Given the description of an element on the screen output the (x, y) to click on. 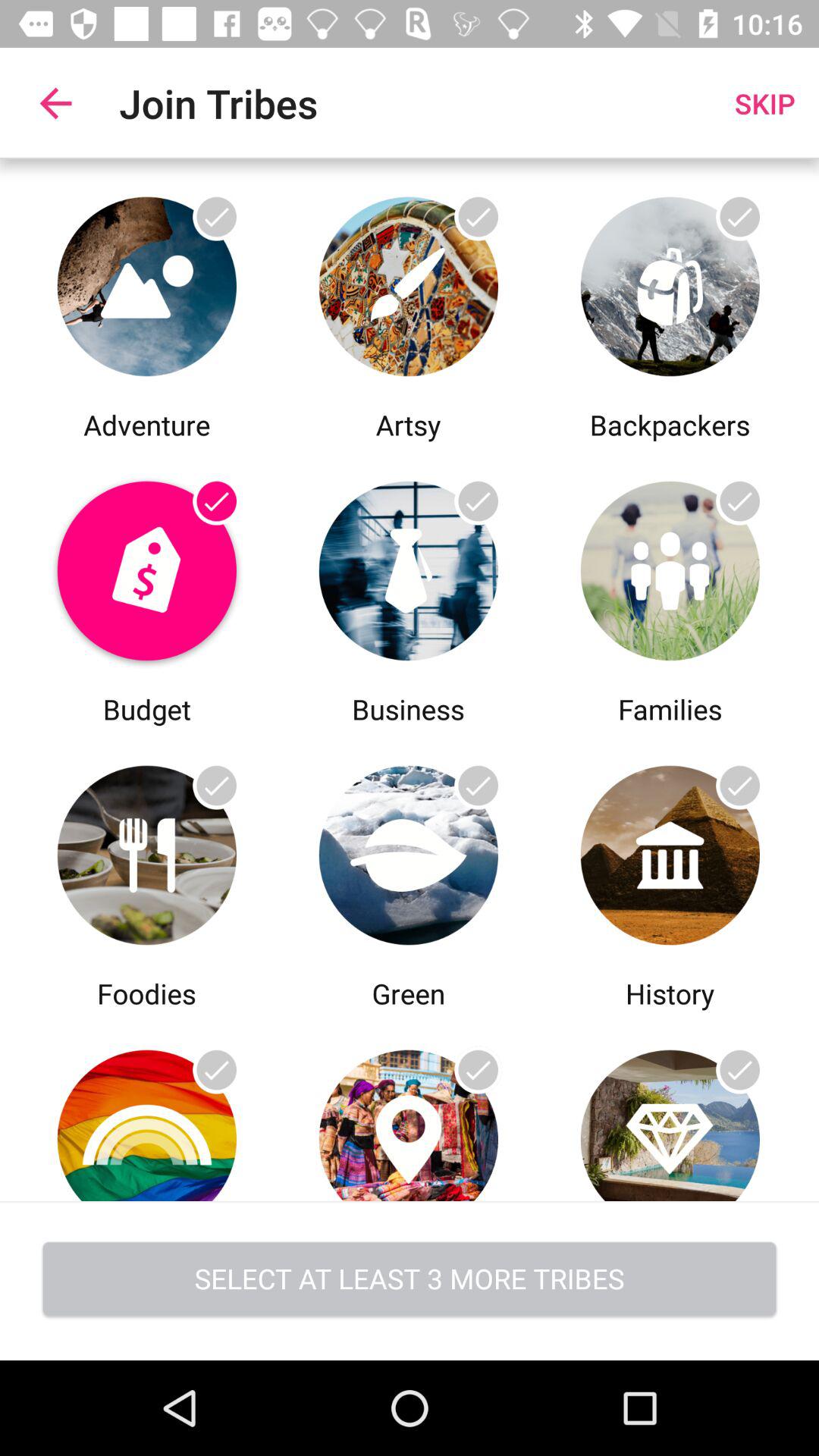
flip until the skip item (764, 103)
